Given the description of an element on the screen output the (x, y) to click on. 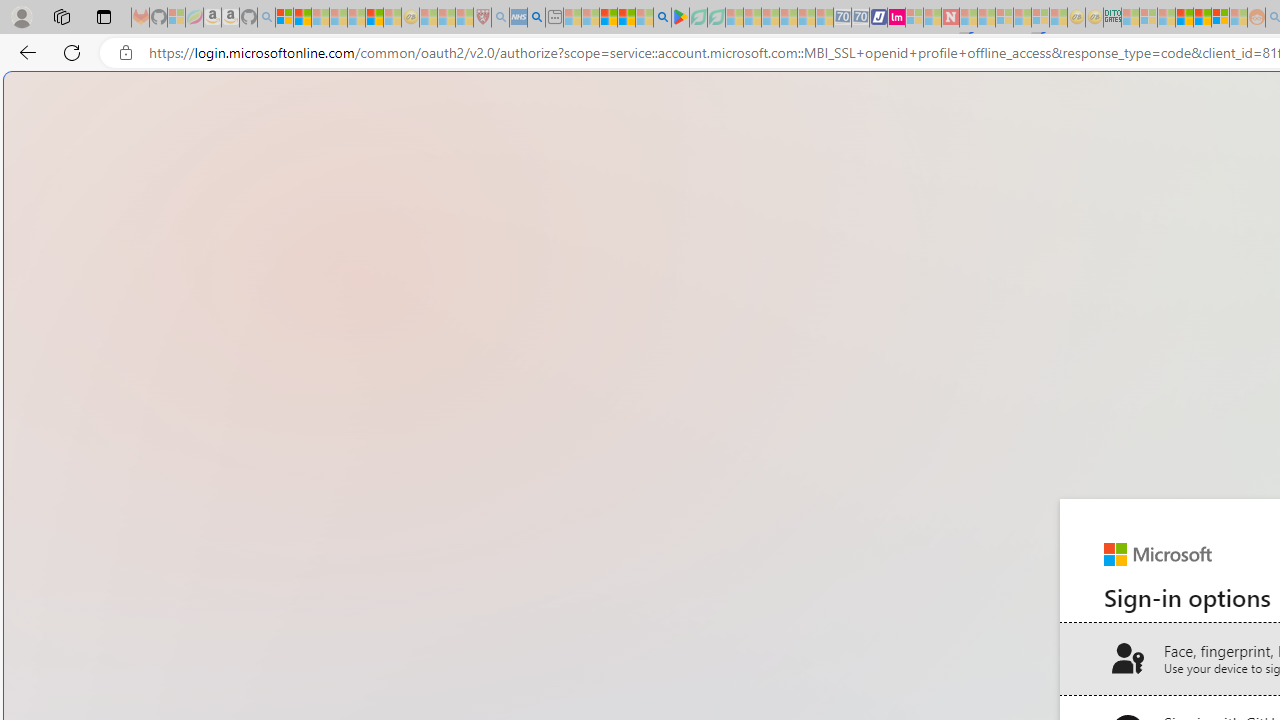
Bluey: Let's Play! - Apps on Google Play (680, 17)
Jobs - lastminute.com Investor Portal (896, 17)
